Given the description of an element on the screen output the (x, y) to click on. 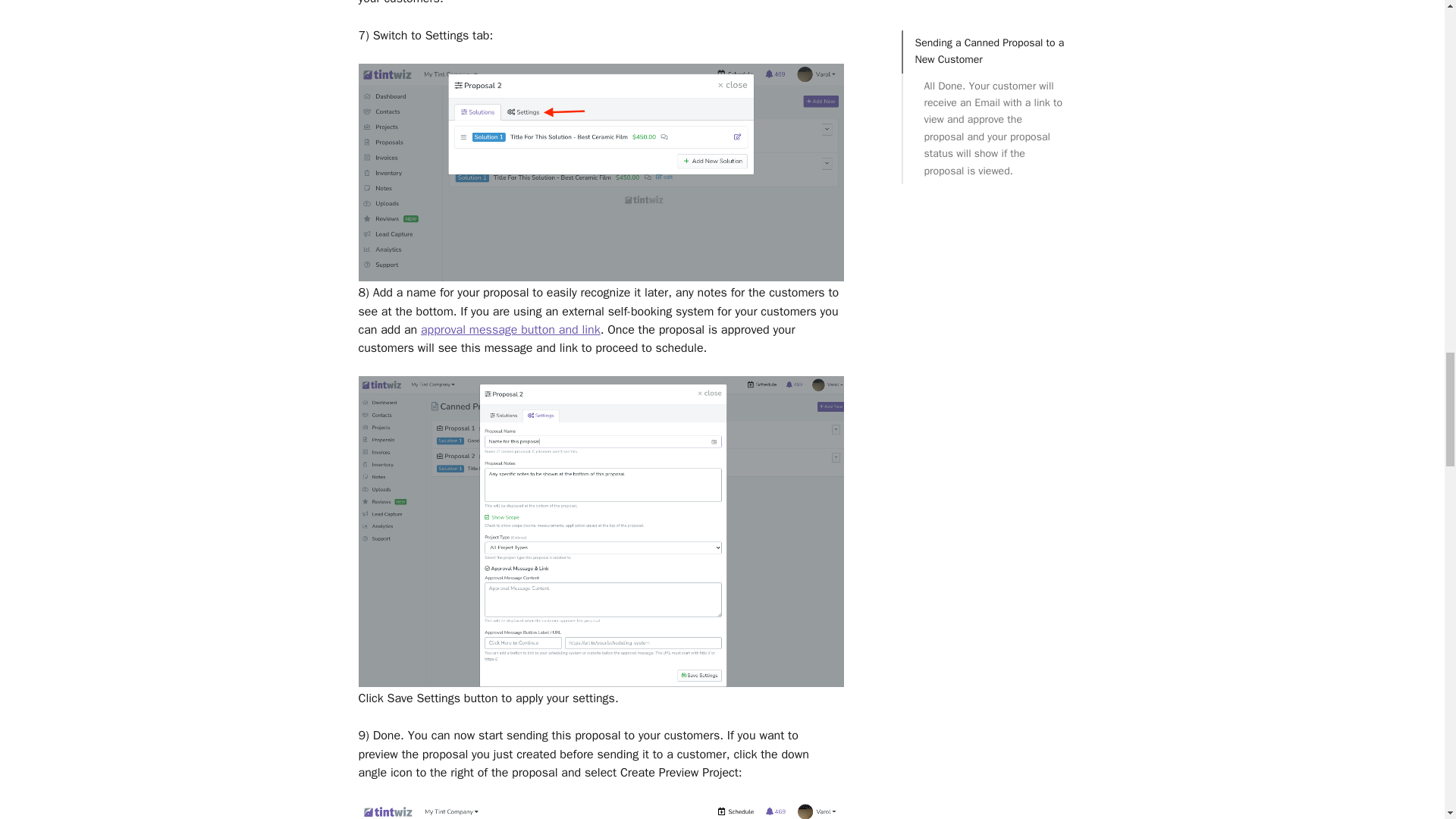
approval message button and link (509, 329)
